Given the description of an element on the screen output the (x, y) to click on. 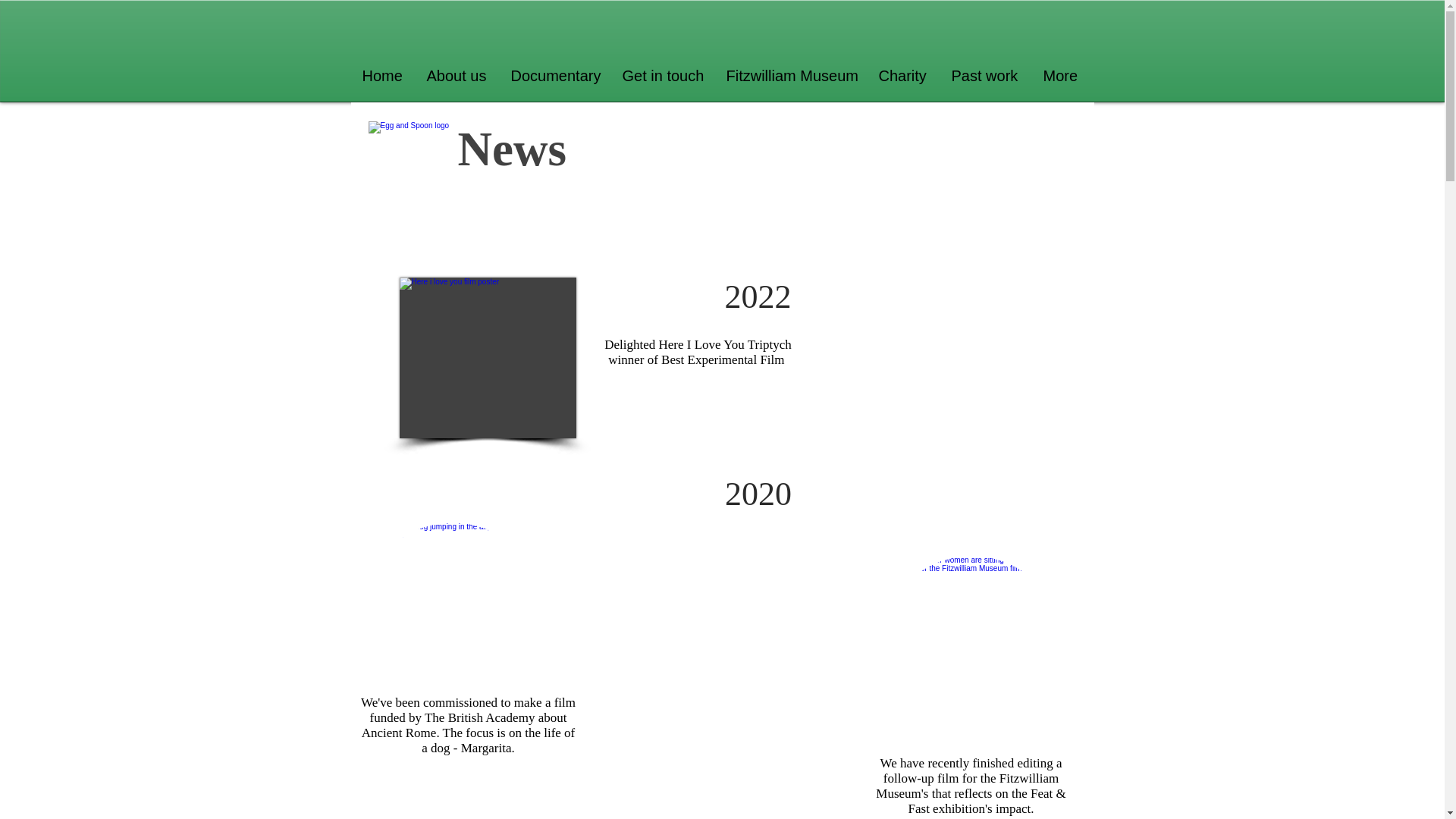
Home (382, 75)
Past work (986, 75)
Documentary (554, 75)
Charity (903, 75)
Fitzwilliam Museum (790, 75)
Get in touch (662, 75)
About us (456, 75)
